Given the description of an element on the screen output the (x, y) to click on. 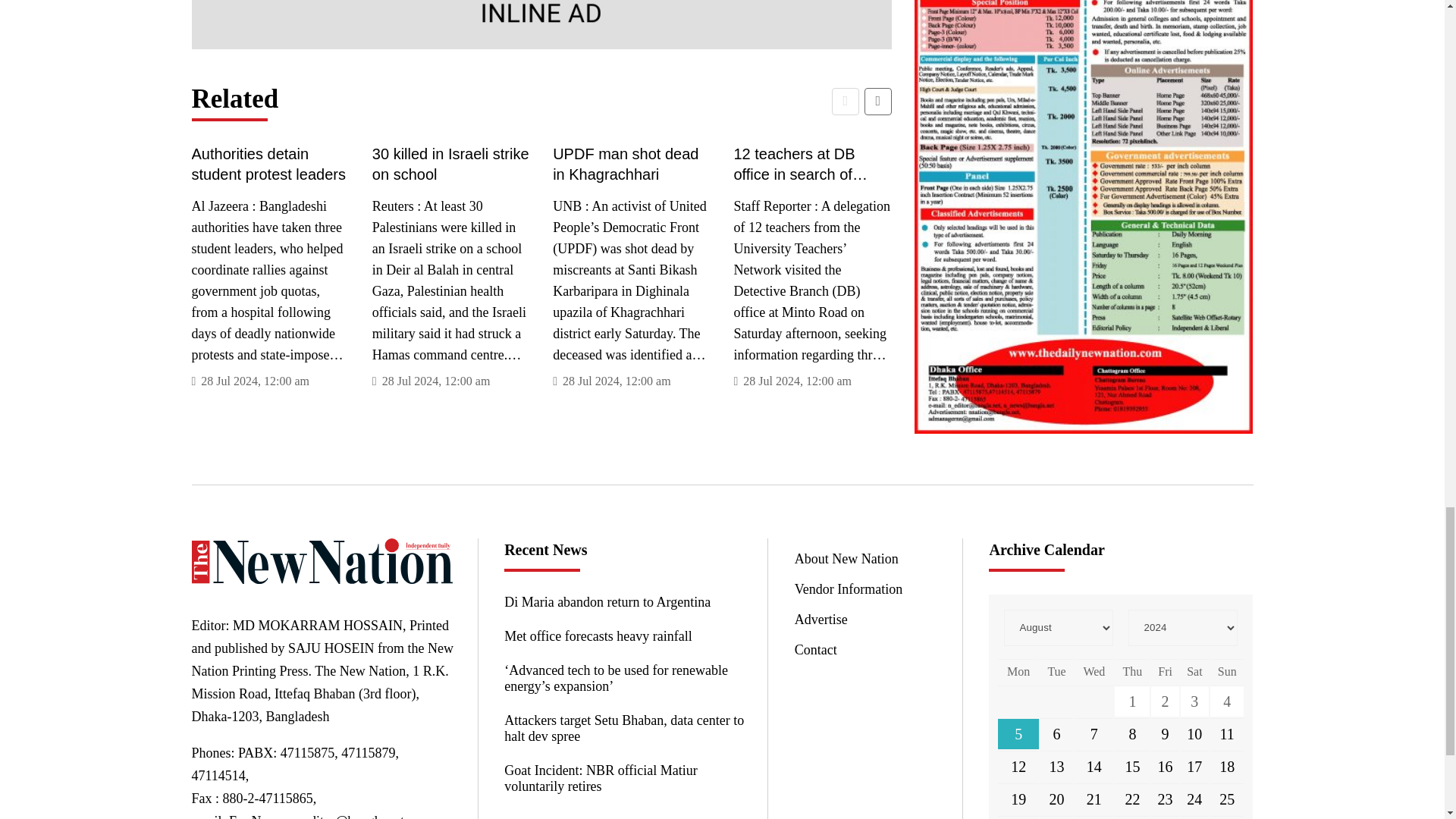
Saturday (1194, 671)
Friday (1164, 671)
Tuesday (1057, 671)
Authorities detain student protest leaders (269, 164)
Thursday (1132, 671)
12 teachers at DB office in search of coordinators (812, 164)
Met office forecasts heavy rainfall (623, 636)
Wednesday (1093, 671)
Di Maria abandon return to Argentina (623, 602)
30 killed in Israeli strike on school (450, 164)
Attackers target Setu Bhaban, data center to halt dev spree (623, 728)
Monday (1017, 671)
UPDF man shot dead in Khagrachhari (631, 164)
Sunday (1226, 671)
Goat Incident: NBR official Matiur voluntarily retires (623, 778)
